Given the description of an element on the screen output the (x, y) to click on. 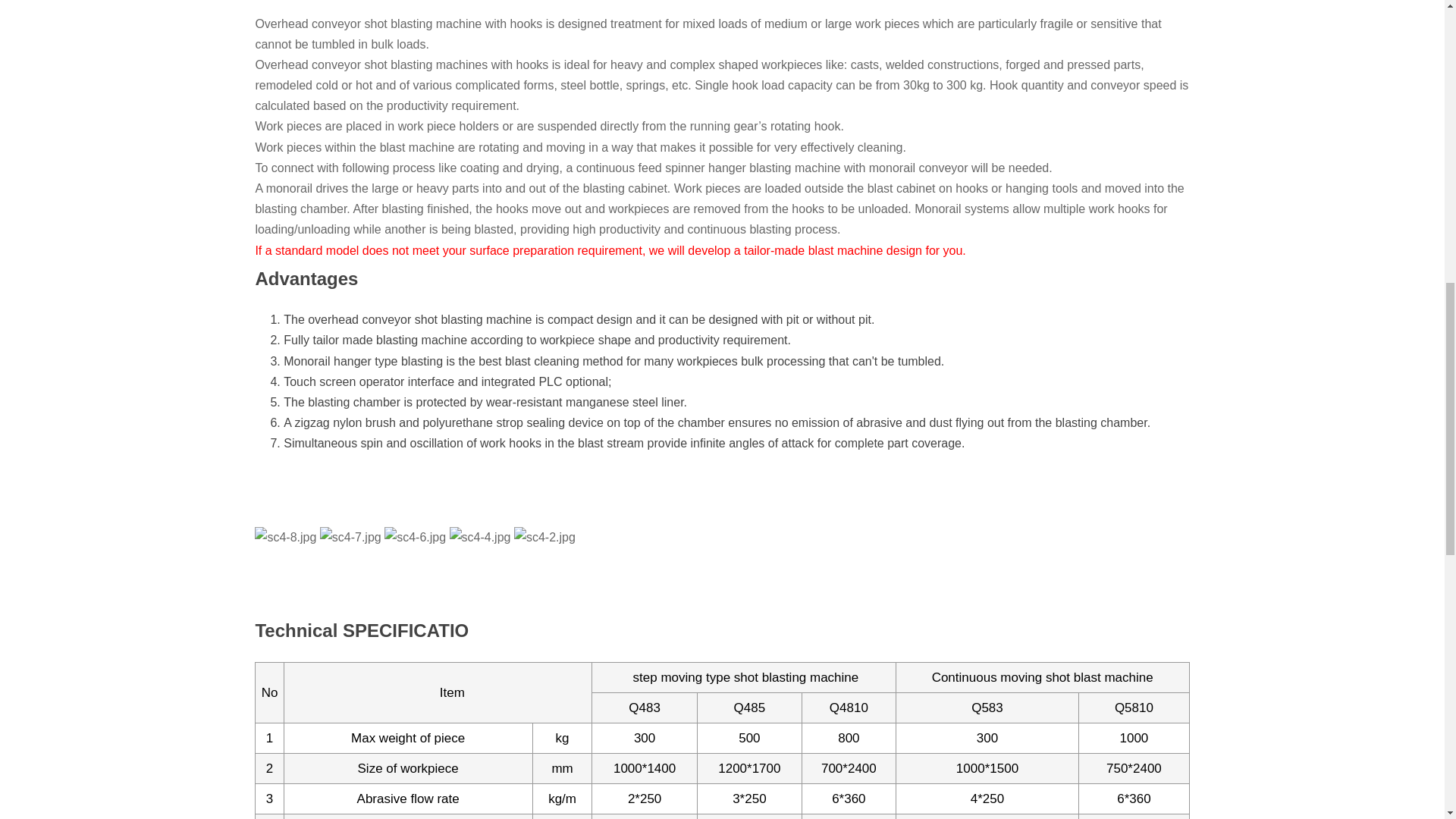
20220901154841668.jpg (414, 537)
20220901154840396.jpg (350, 537)
20220901154841334.jpg (544, 537)
20220901154841892.jpg (284, 537)
20220901154841971.jpg (480, 537)
20220901154841389.jpg (654, 536)
